Given the description of an element on the screen output the (x, y) to click on. 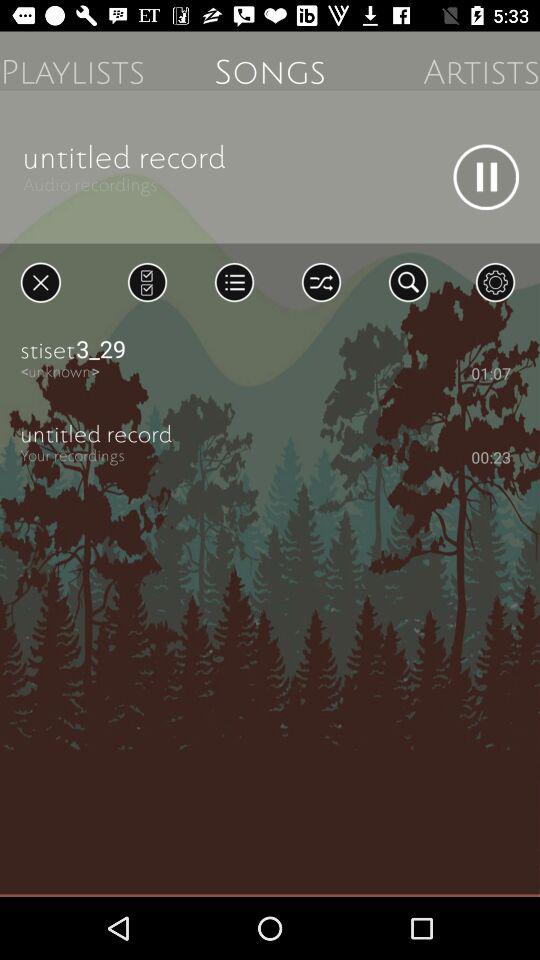
see list (234, 282)
